Given the description of an element on the screen output the (x, y) to click on. 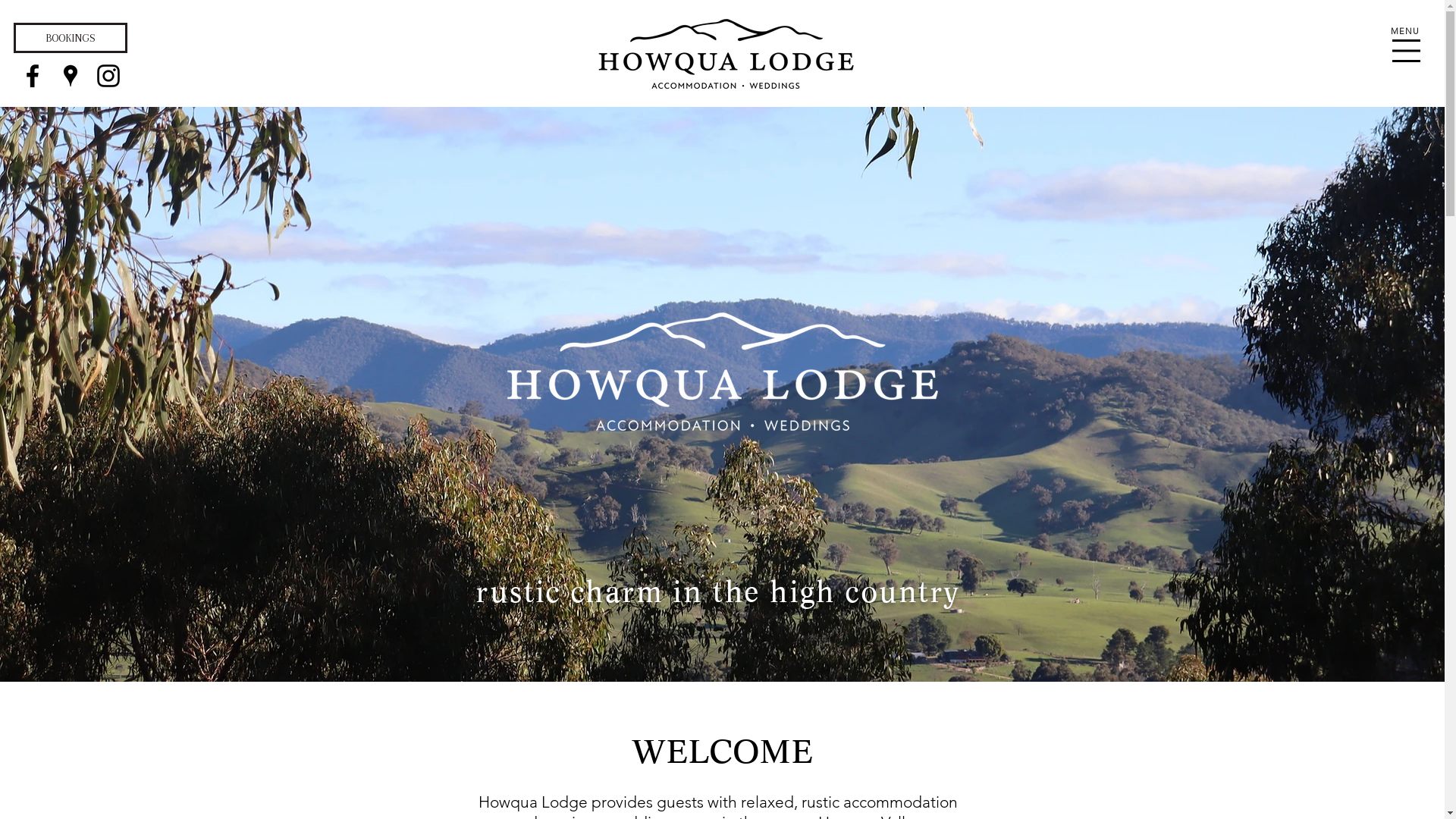
BOOKINGS Element type: text (70, 37)
Howqu Lodge Logo Element type: hover (721, 371)
